Given the description of an element on the screen output the (x, y) to click on. 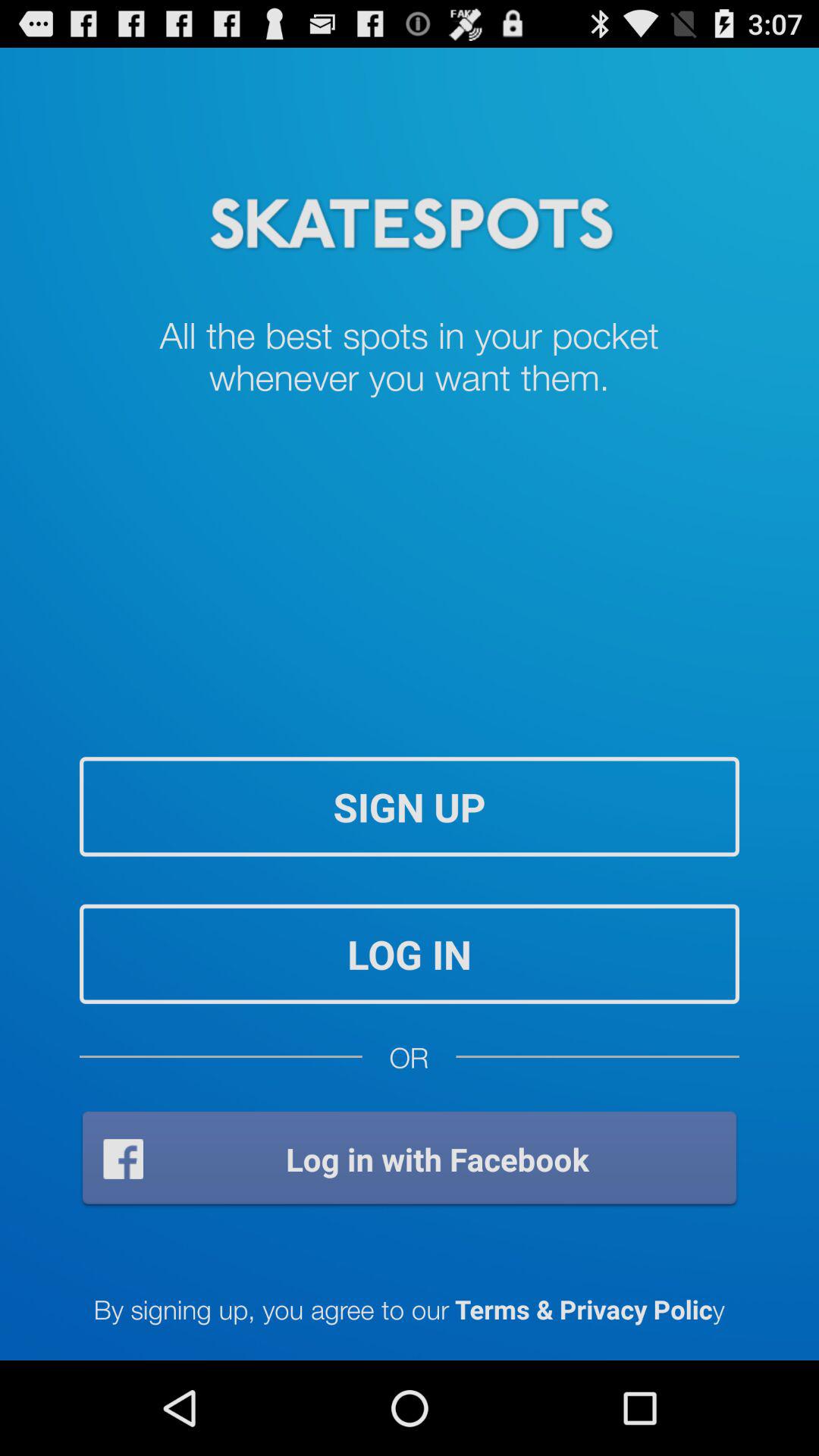
launch icon below the all the best (409, 806)
